Given the description of an element on the screen output the (x, y) to click on. 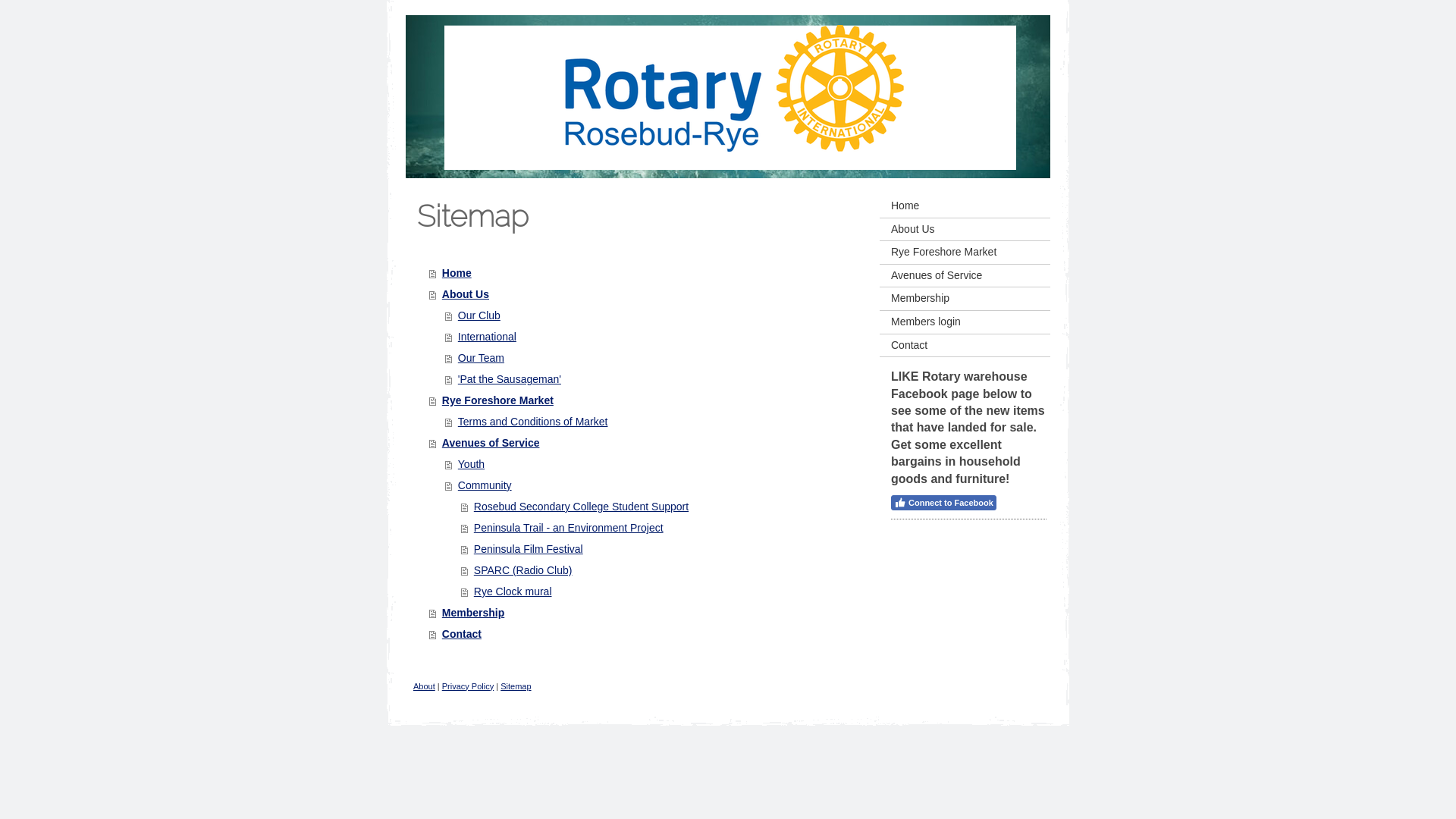
Sitemap Element type: text (515, 685)
'Pat the Sausageman' Element type: text (652, 378)
Terms and Conditions of Market Element type: text (652, 421)
Members login Element type: text (964, 322)
SPARC (Radio Club) Element type: text (660, 569)
Membership Element type: text (644, 612)
Peninsula Trail - an Environment Project Element type: text (660, 527)
Avenues of Service Element type: text (644, 442)
Home Element type: text (964, 206)
Community Element type: text (652, 484)
Rye Foreshore Market Element type: text (644, 400)
Home Element type: text (644, 272)
About Element type: text (424, 685)
Contact Element type: text (644, 633)
Avenues of Service Element type: text (964, 276)
International Element type: text (652, 336)
Connect to Facebook Element type: text (943, 502)
About Us Element type: text (964, 229)
Rye Clock mural Element type: text (660, 591)
Privacy Policy Element type: text (467, 685)
Youth Element type: text (652, 463)
Peninsula Film Festival Element type: text (660, 548)
Our Club Element type: text (652, 315)
Rye Foreshore Market Element type: text (964, 252)
Contact Element type: text (964, 345)
About Us Element type: text (644, 293)
Our Team Element type: text (652, 357)
Rosebud Secondary College Student Support Element type: text (660, 506)
Membership Element type: text (964, 298)
